Given the description of an element on the screen output the (x, y) to click on. 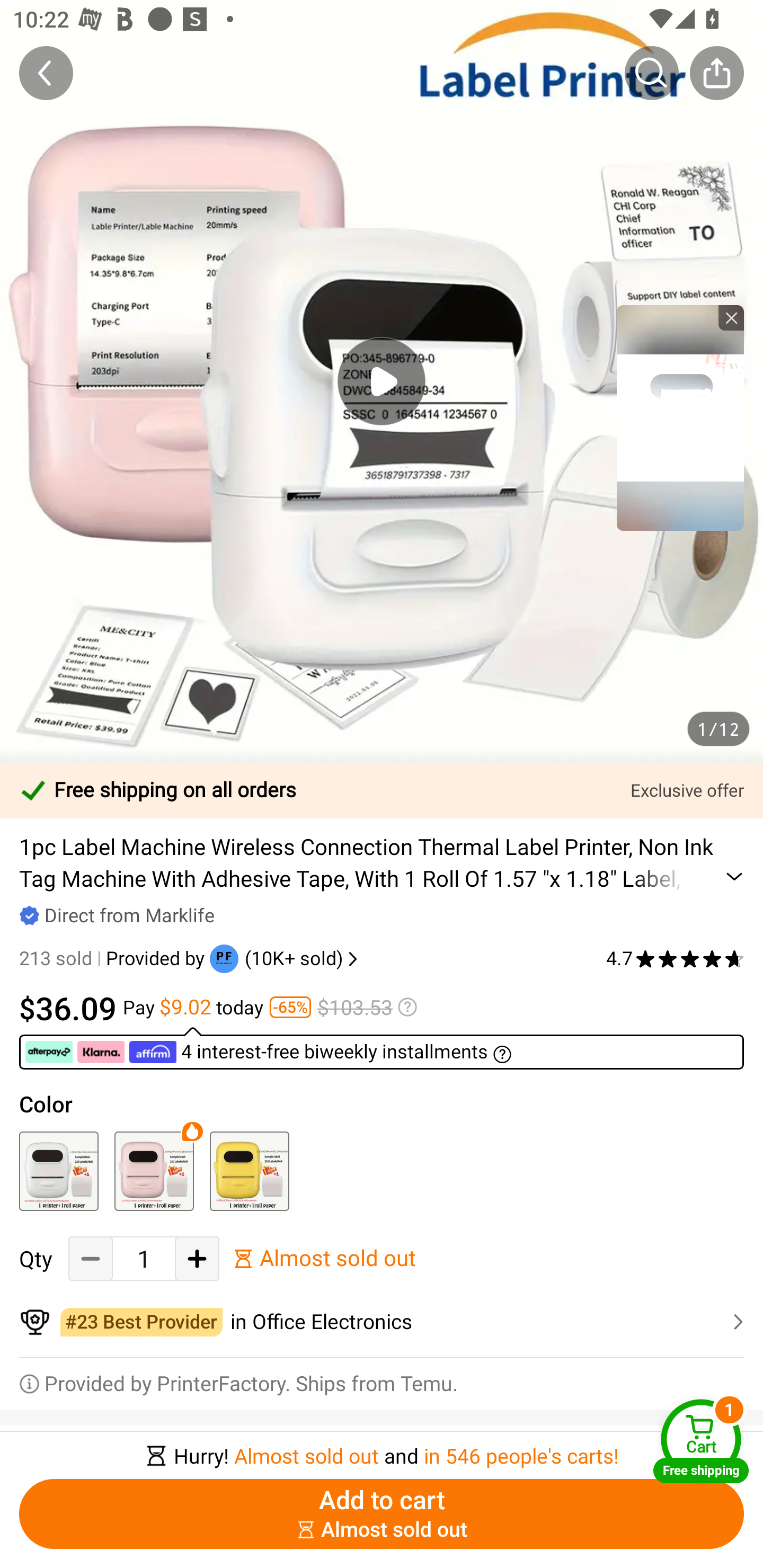
Back (46, 72)
Share (716, 72)
tronplayer_view (680, 417)
Free shipping on all orders Exclusive offer (381, 790)
213 sold Provided by  (114, 958)
4.7 (674, 958)
￼ ￼ ￼ 4 interest-free biweekly installments ￼ (381, 1048)
White (58, 1171)
pink   (153, 1171)
Yellow (249, 1171)
Decrease Quantity Button (90, 1259)
1 (143, 1259)
Add Quantity button (196, 1259)
￼￼in Office Electronics (381, 1322)
Cart Free shipping Cart (701, 1440)
Add to cart ￼￼Almost sold out (381, 1513)
